Given the description of an element on the screen output the (x, y) to click on. 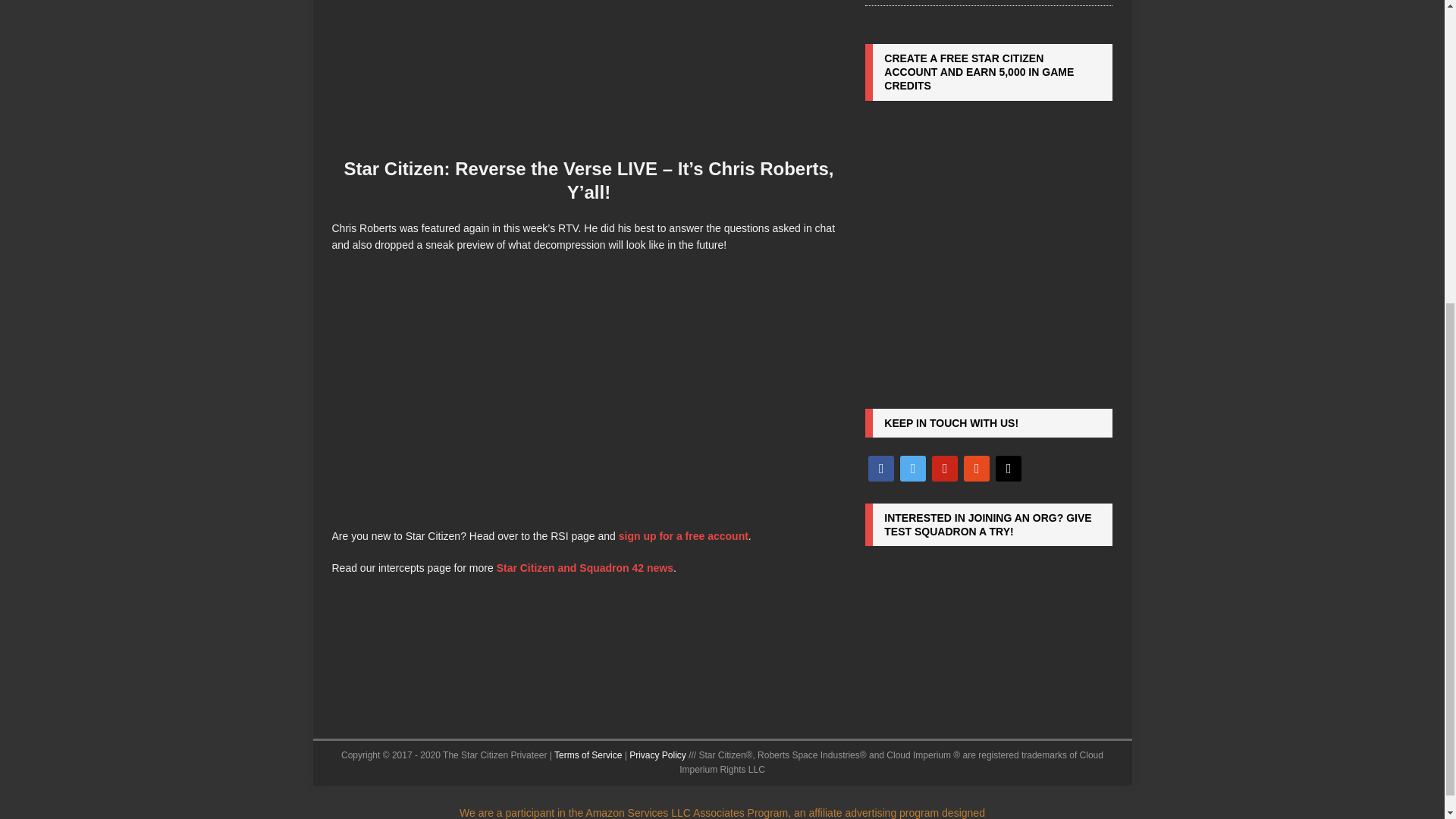
Join TEST Squadron! (988, 621)
Privacy Policy (656, 755)
Star Citizen and Squadron 42 news (584, 567)
RTV Chris Roberts 2 (588, 70)
Friend me on Facebook (880, 467)
sign up for a free account (683, 535)
Follow Me (912, 467)
Terms of Service (587, 755)
